Given the description of an element on the screen output the (x, y) to click on. 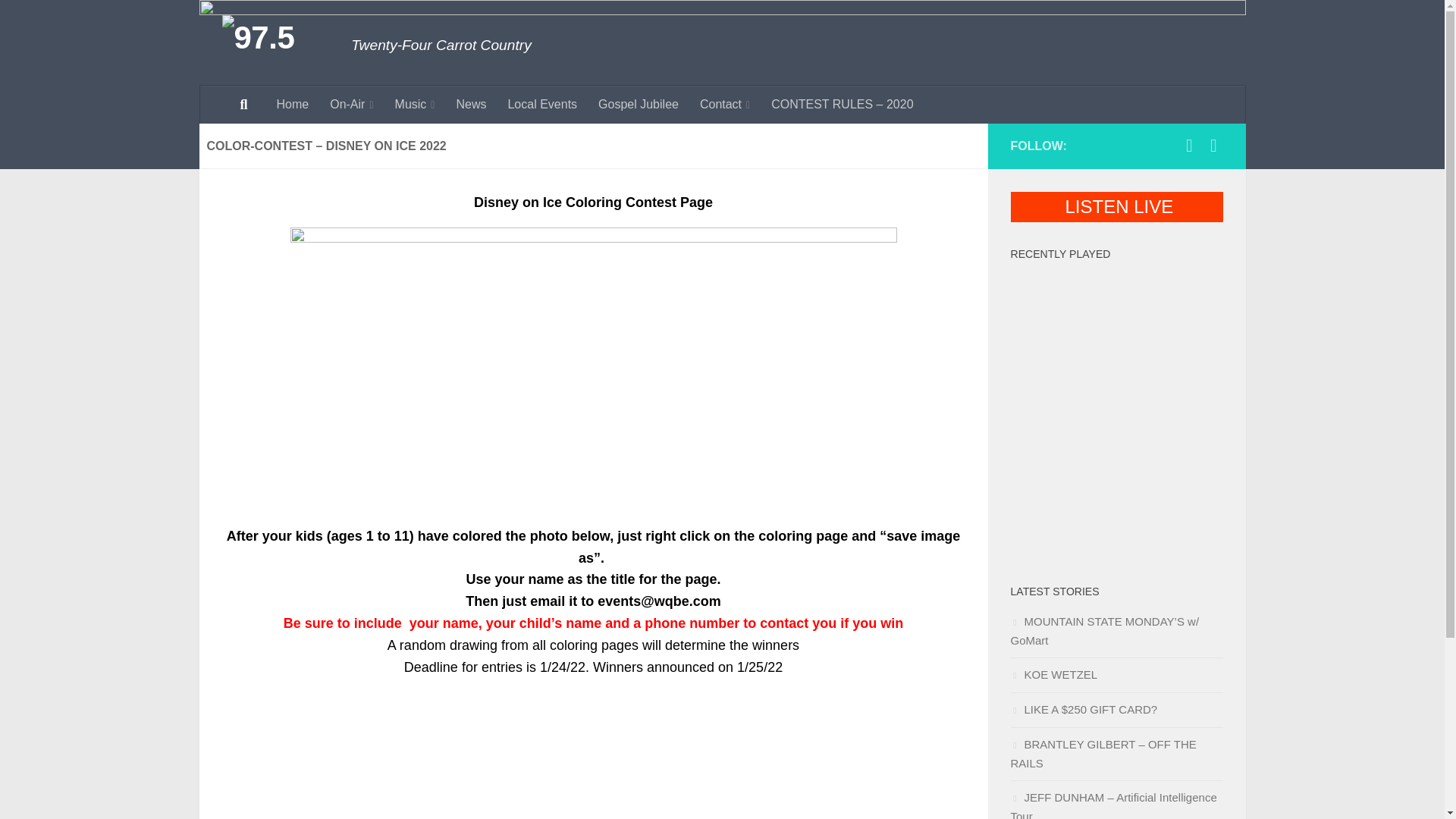
Follow us on Facebook (1188, 145)
On-Air (351, 104)
Home (291, 104)
Music (414, 104)
News (470, 104)
Local Events (542, 104)
Gospel Jubilee (638, 104)
Contact (724, 104)
Follow us on Twitter (1213, 145)
